Given the description of an element on the screen output the (x, y) to click on. 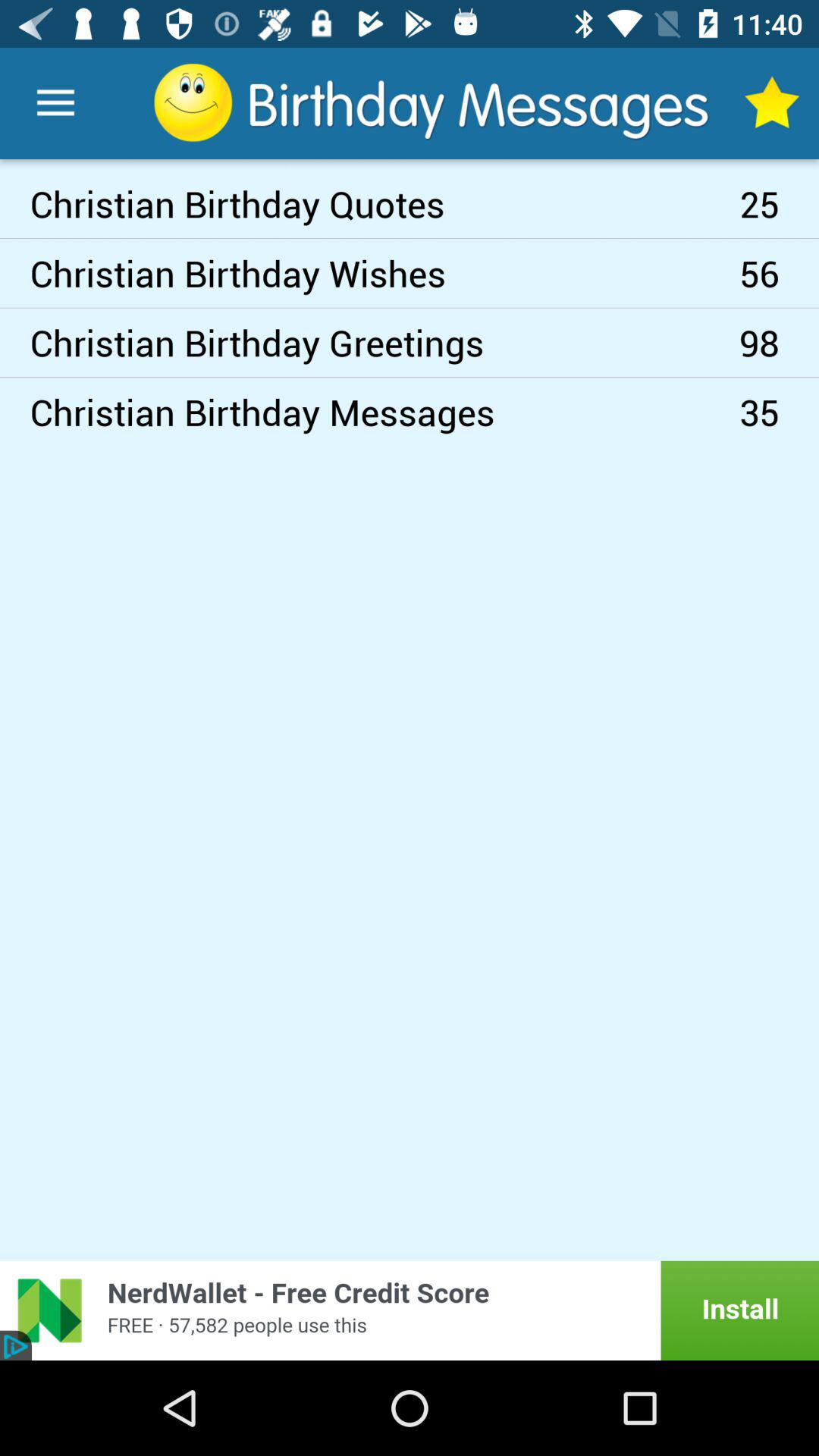
launch the icon next to christian birthday messages (779, 411)
